Given the description of an element on the screen output the (x, y) to click on. 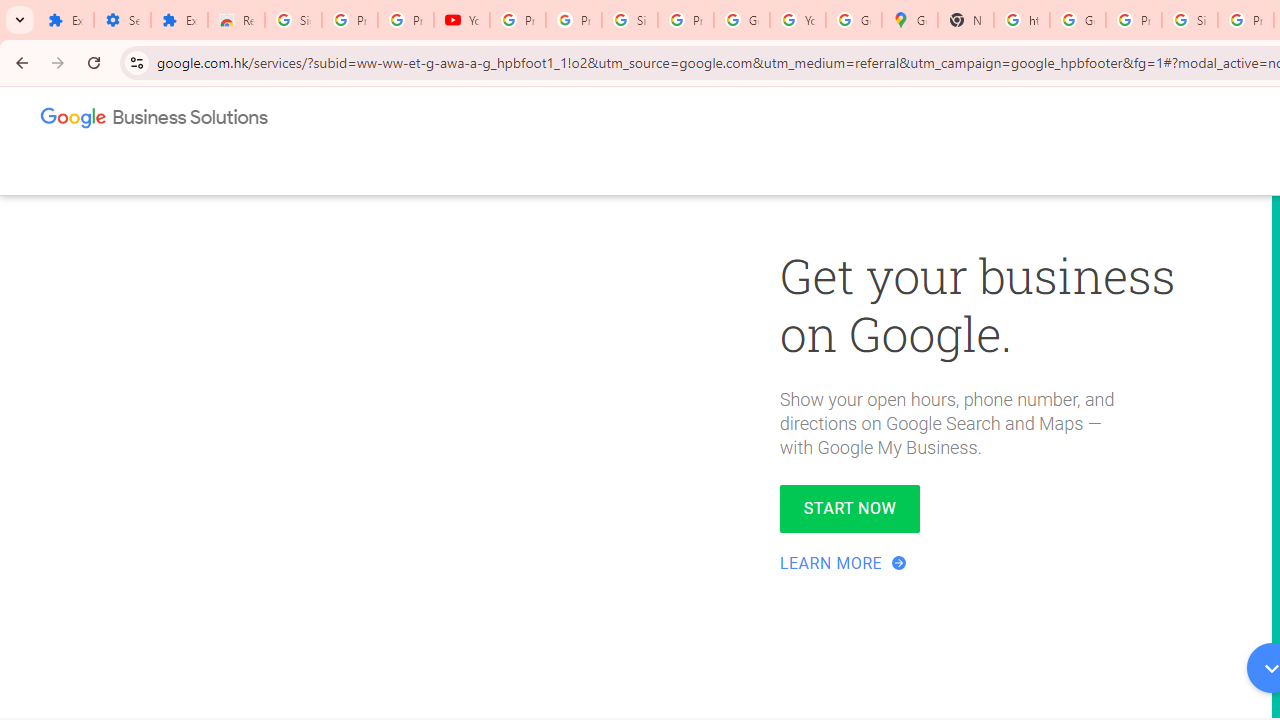
https://scholar.google.com/ (1021, 20)
Reviews: Helix Fruit Jump Arcade Game (235, 20)
Google Business Solutions (155, 121)
